Given the description of an element on the screen output the (x, y) to click on. 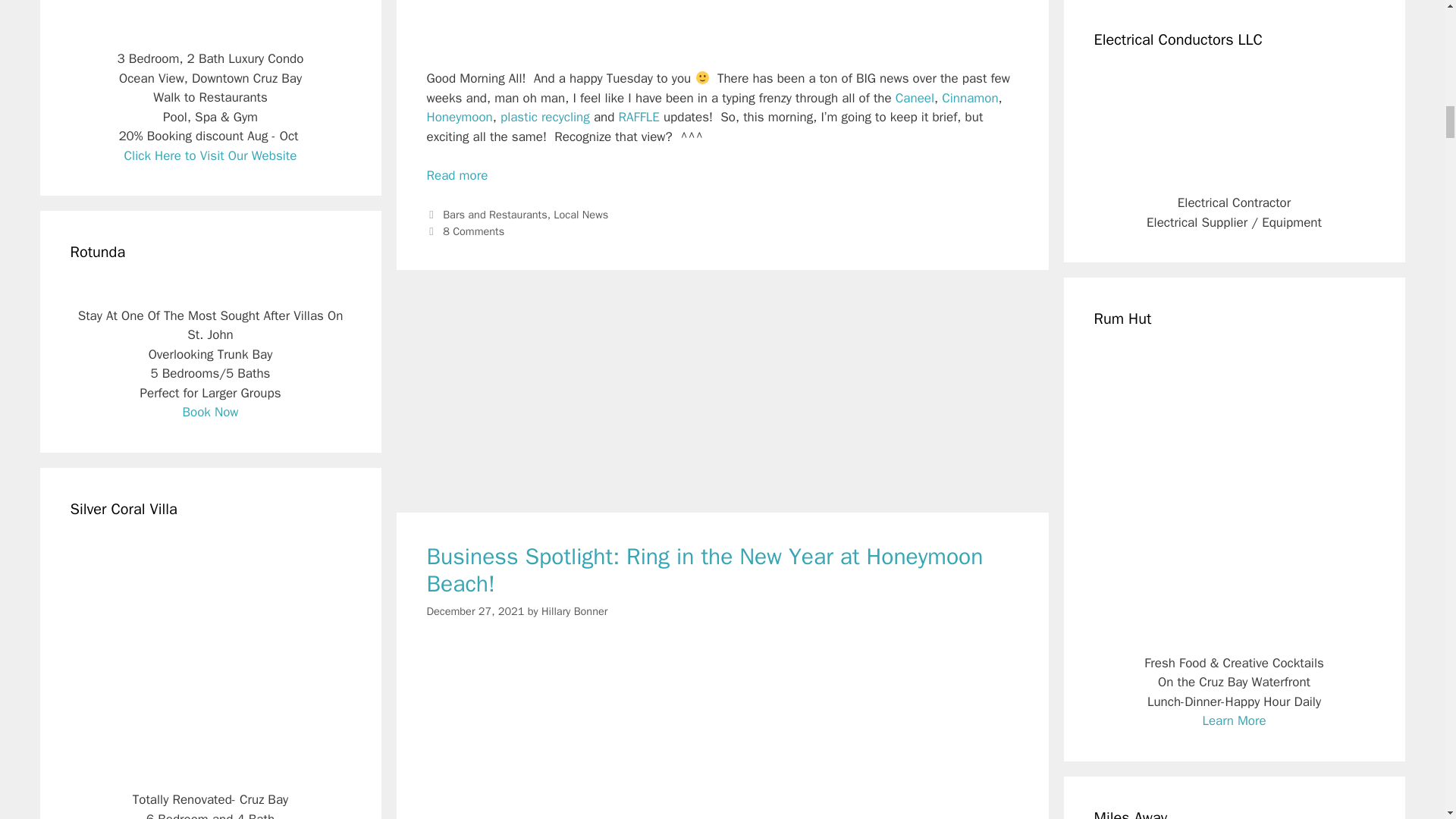
View all posts by Hillary Bonner (574, 610)
6:36 am (475, 610)
